Given the description of an element on the screen output the (x, y) to click on. 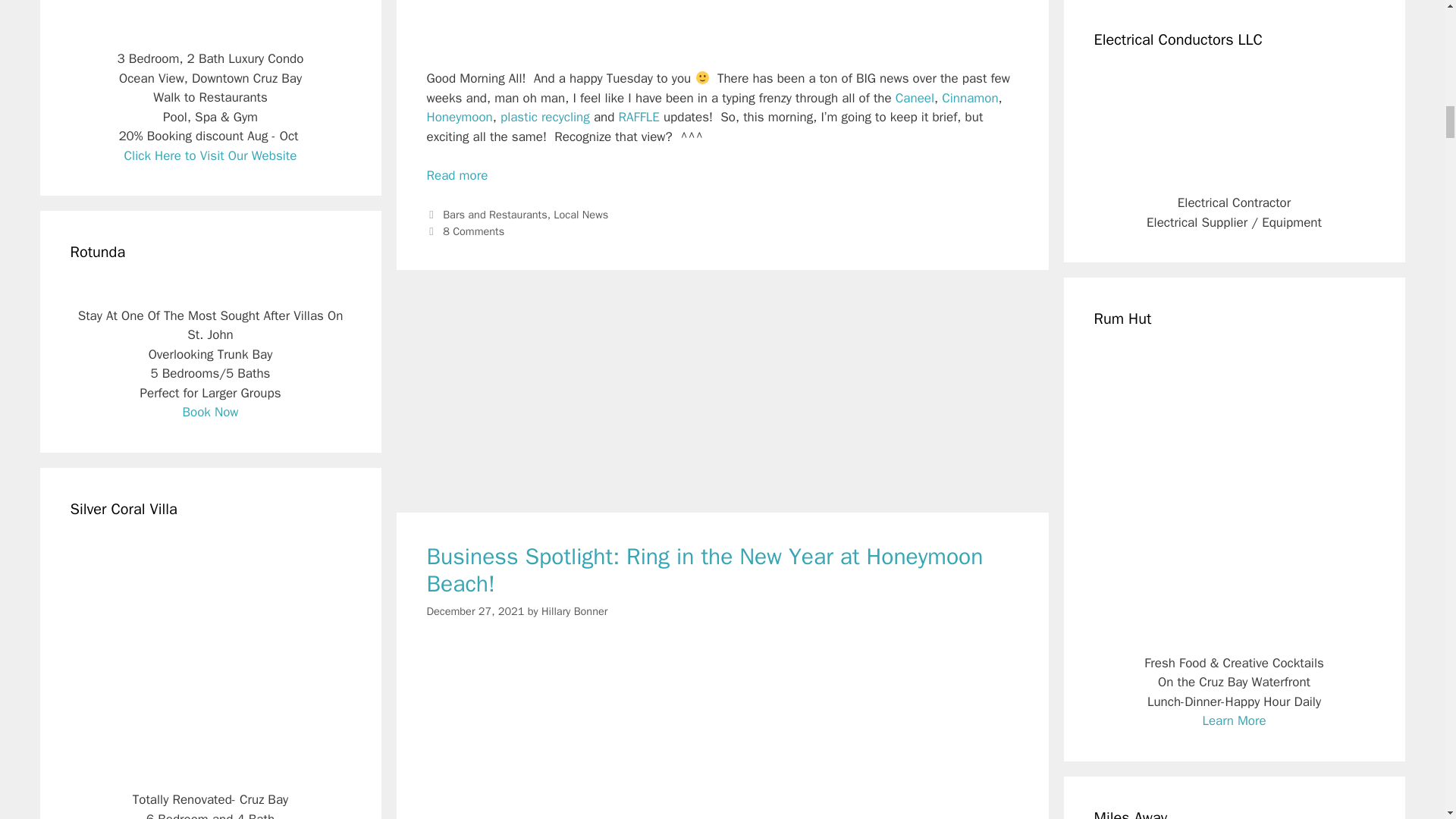
View all posts by Hillary Bonner (574, 610)
6:36 am (475, 610)
